Given the description of an element on the screen output the (x, y) to click on. 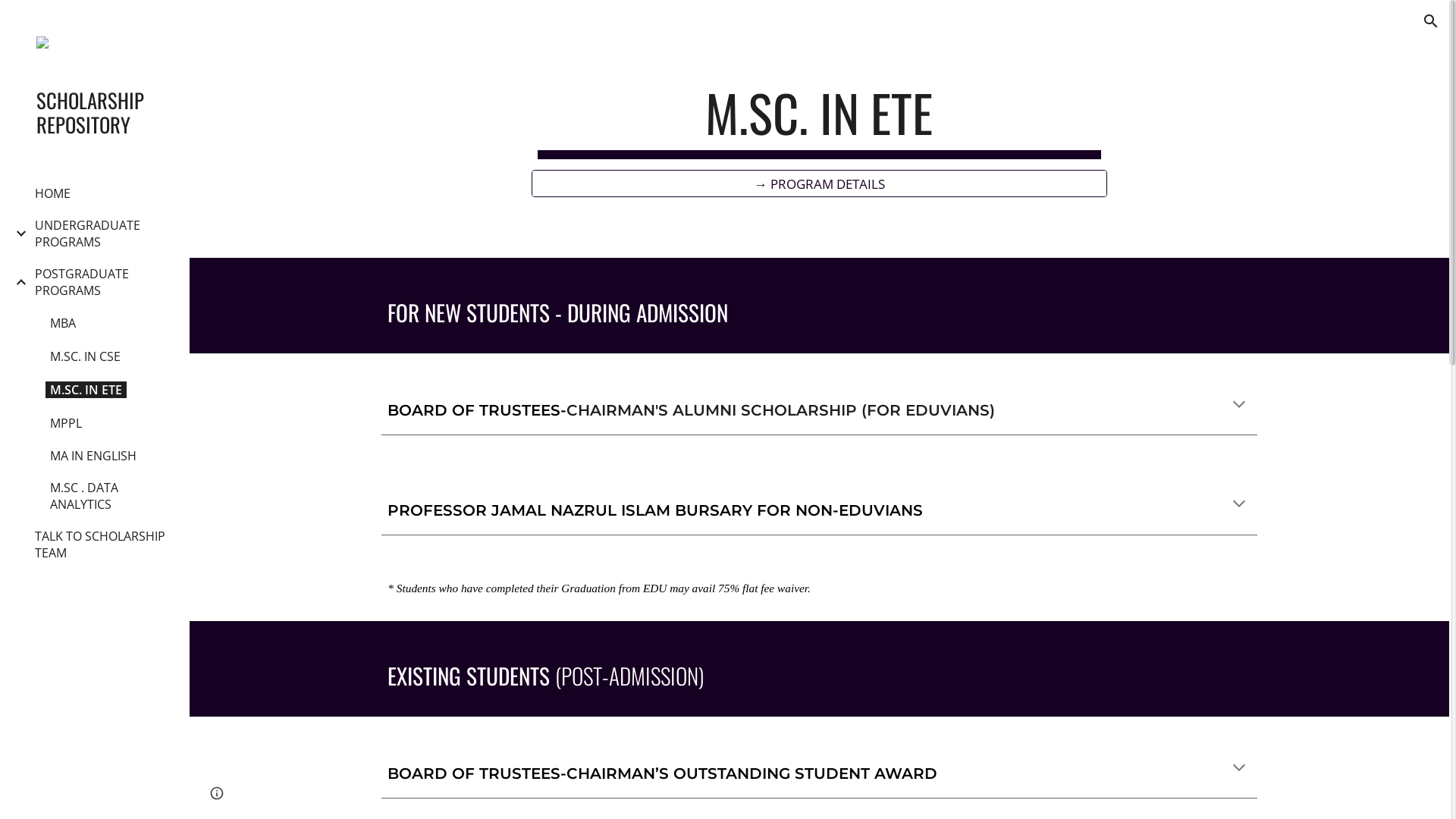
M.SC . DATA ANALYTICS Element type: text (109, 495)
SCHOLARSHIP REPOSITORY Element type: text (100, 111)
MBA Element type: text (62, 322)
HOME Element type: text (52, 193)
M.SC. IN CSE Element type: text (85, 356)
Expand/Collapse Element type: hover (16, 282)
MPPL Element type: text (65, 422)
M.SC. IN ETE Element type: text (85, 389)
UNDERGRADUATE PROGRAMS Element type: text (101, 233)
TALK TO SCHOLARSHIP TEAM Element type: text (101, 544)
POSTGRADUATE PROGRAMS Element type: text (101, 281)
Expand/Collapse Element type: hover (16, 233)
MA IN ENGLISH Element type: text (93, 455)
